Given the description of an element on the screen output the (x, y) to click on. 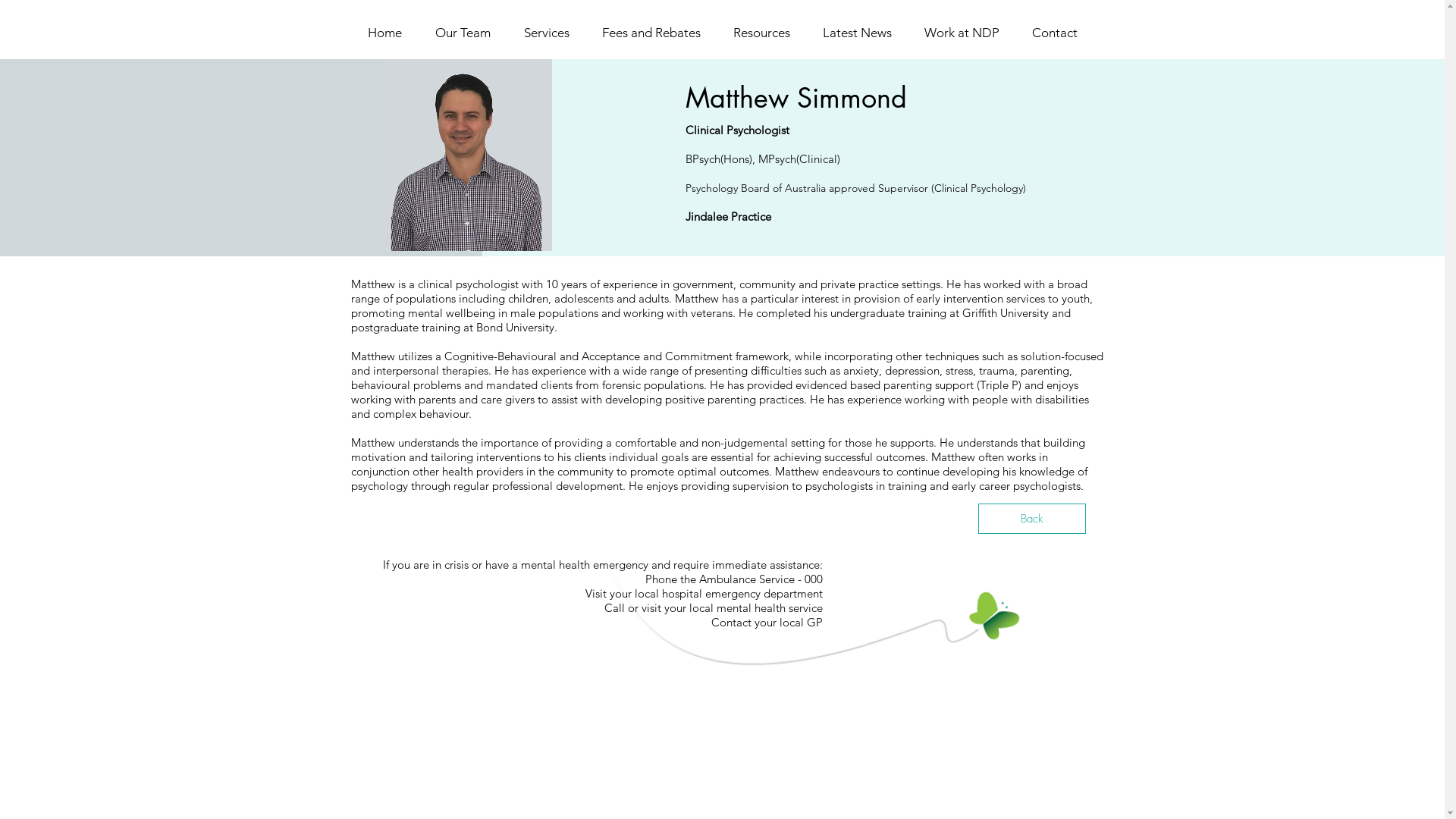
Work at NDP Element type: text (962, 32)
Latest News Element type: text (857, 32)
Our Team Element type: text (462, 32)
Services Element type: text (545, 32)
Home Element type: text (383, 32)
Contact Element type: text (1055, 32)
Resources Element type: text (761, 32)
Back Element type: text (1031, 518)
Fees and Rebates Element type: text (650, 32)
